Given the description of an element on the screen output the (x, y) to click on. 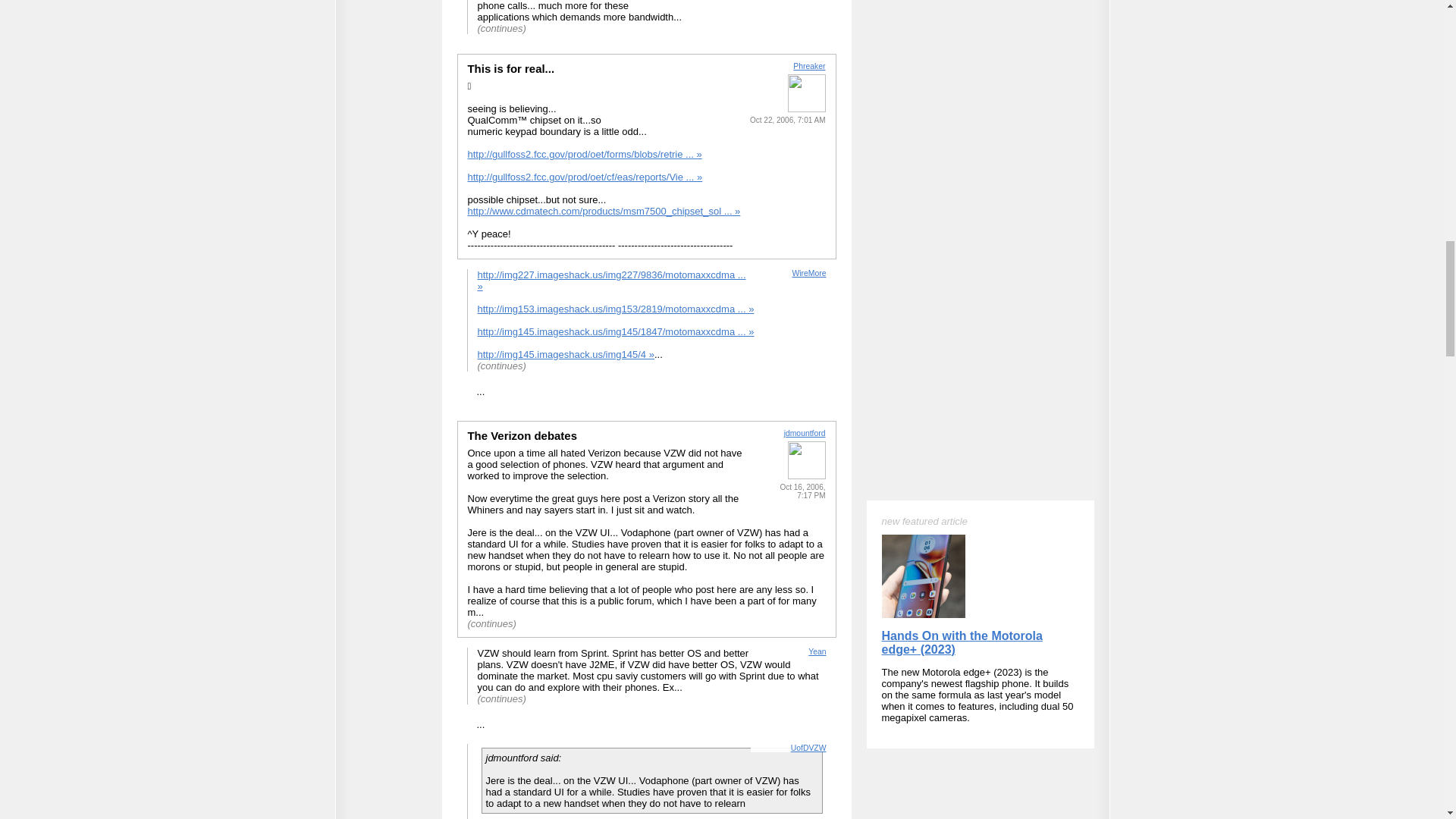
WireMore (808, 273)
Phreaker (809, 66)
